Given the description of an element on the screen output the (x, y) to click on. 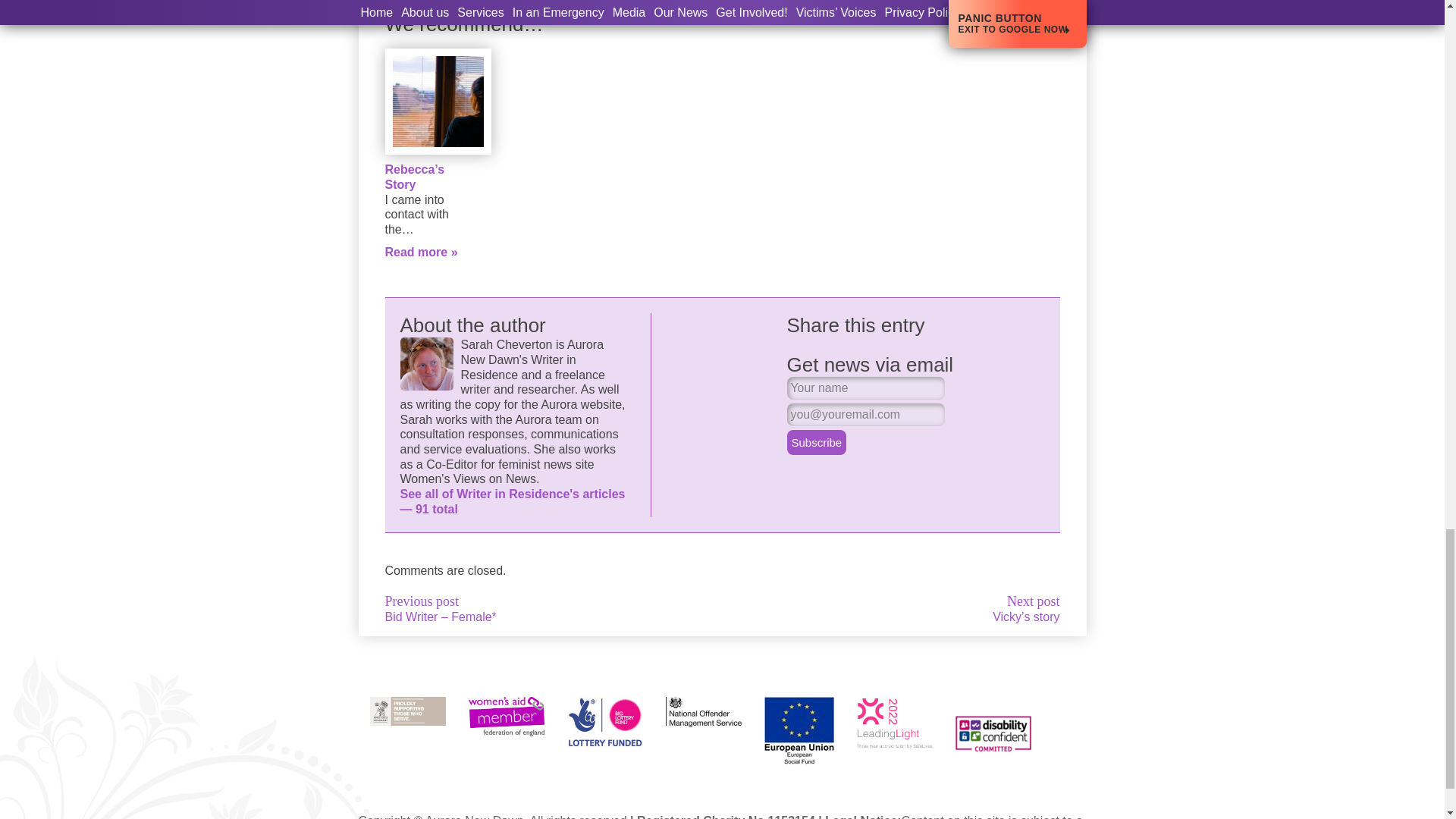
Your name (865, 387)
Subscribe (817, 442)
